Given the description of an element on the screen output the (x, y) to click on. 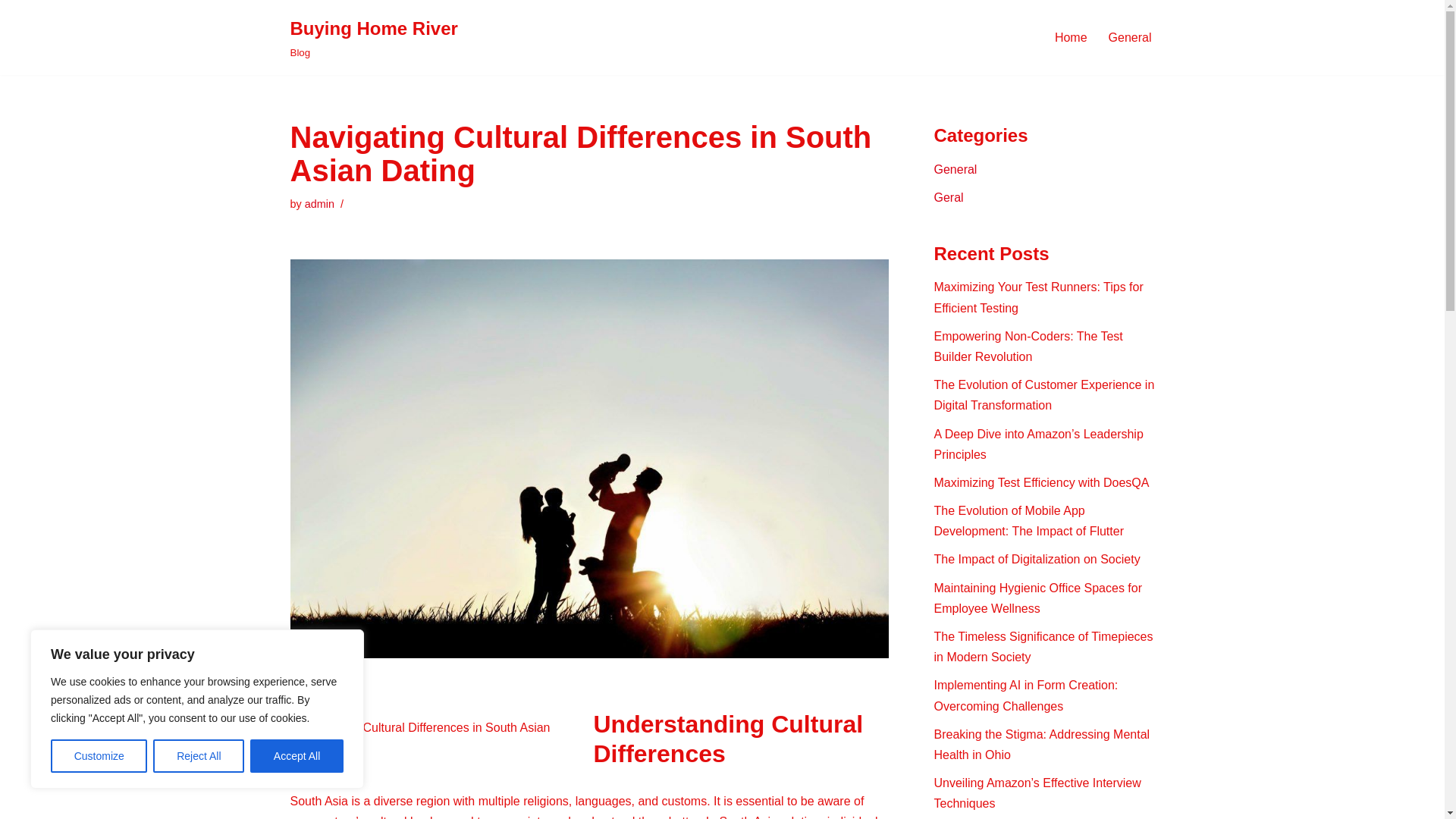
General (1129, 37)
admin (319, 203)
Customize (98, 756)
Empowering Non-Coders: The Test Builder Revolution (1028, 346)
Reject All (198, 756)
Maximizing Test Efficiency with DoesQA (1042, 481)
General (955, 169)
Maximizing Your Test Runners: Tips for Efficient Testing (1038, 296)
Home (1070, 37)
